Given the description of an element on the screen output the (x, y) to click on. 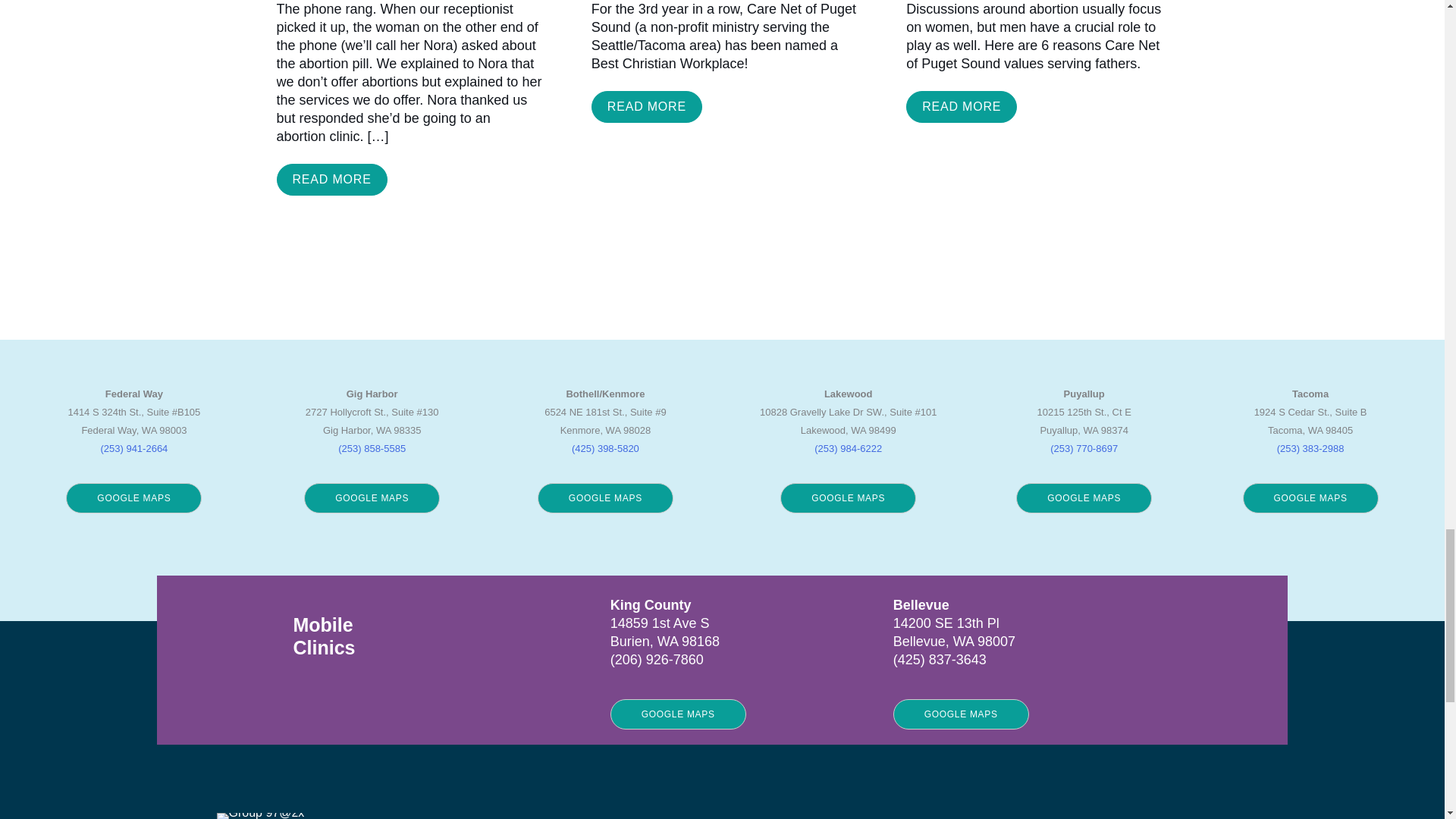
Click Here (646, 106)
Click Here (331, 179)
Click Here (960, 106)
